Given the description of an element on the screen output the (x, y) to click on. 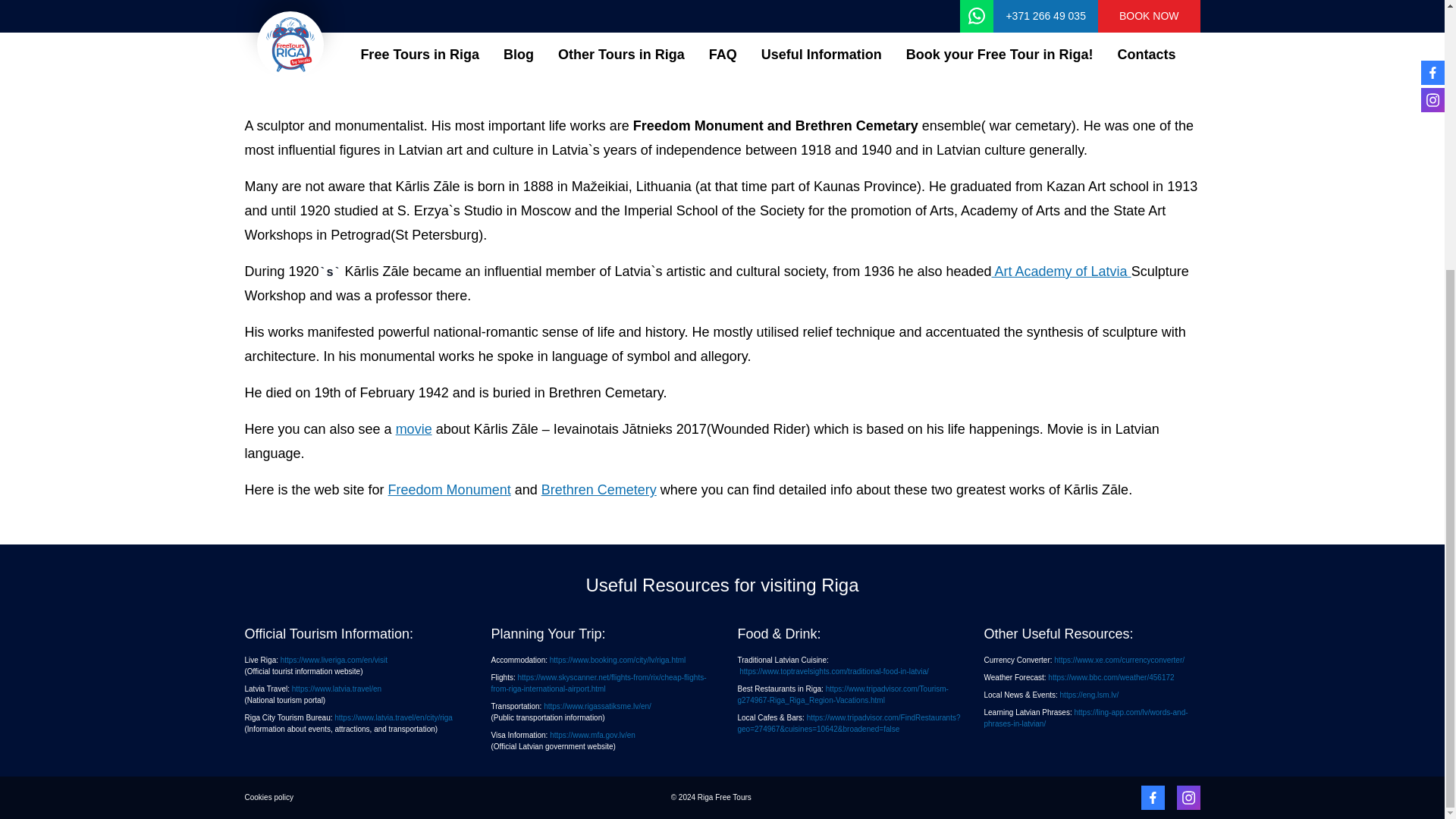
 Art Academy of Latvia  (1061, 271)
Brethren Cemetery (598, 489)
Cookies policy (268, 796)
movie (414, 428)
Freedom Monument (449, 489)
